Given the description of an element on the screen output the (x, y) to click on. 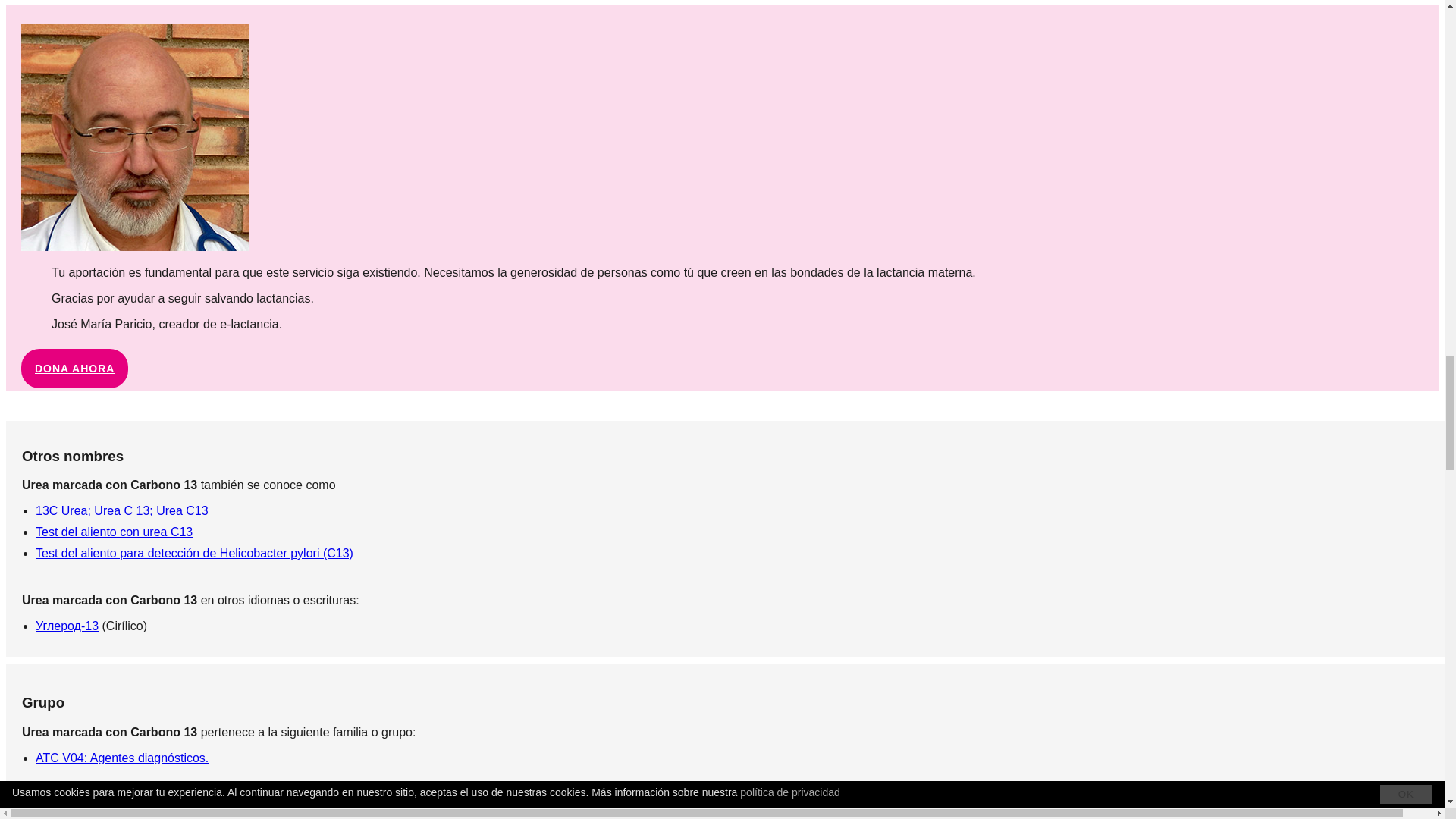
DONA AHORA (74, 368)
13C Urea; Urea C 13; Urea C13 (121, 510)
Test del aliento con urea C13 (113, 531)
